Given the description of an element on the screen output the (x, y) to click on. 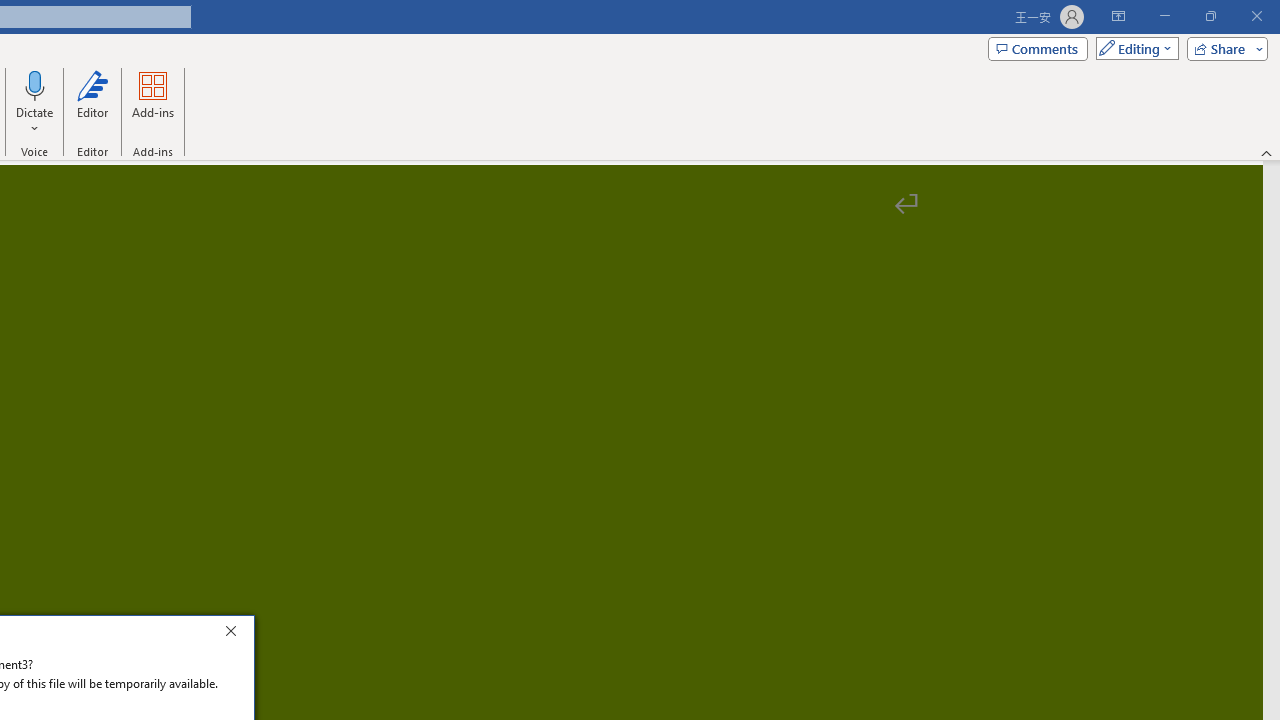
Mode (1133, 47)
Editor (92, 102)
